Given the description of an element on the screen output the (x, y) to click on. 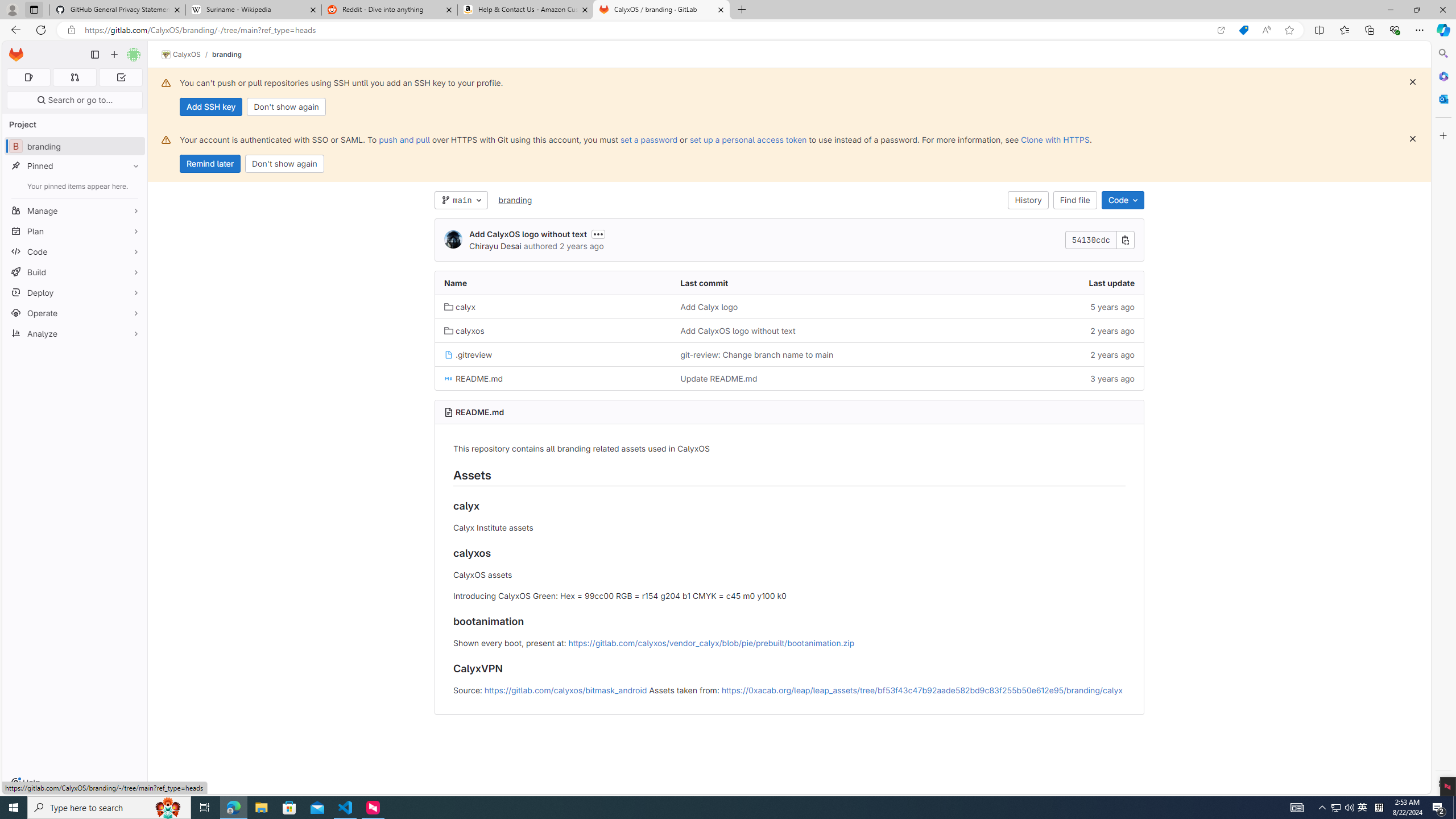
Bbranding (74, 145)
Add Calyx logo (708, 306)
5 years ago (1025, 306)
